Given the description of an element on the screen output the (x, y) to click on. 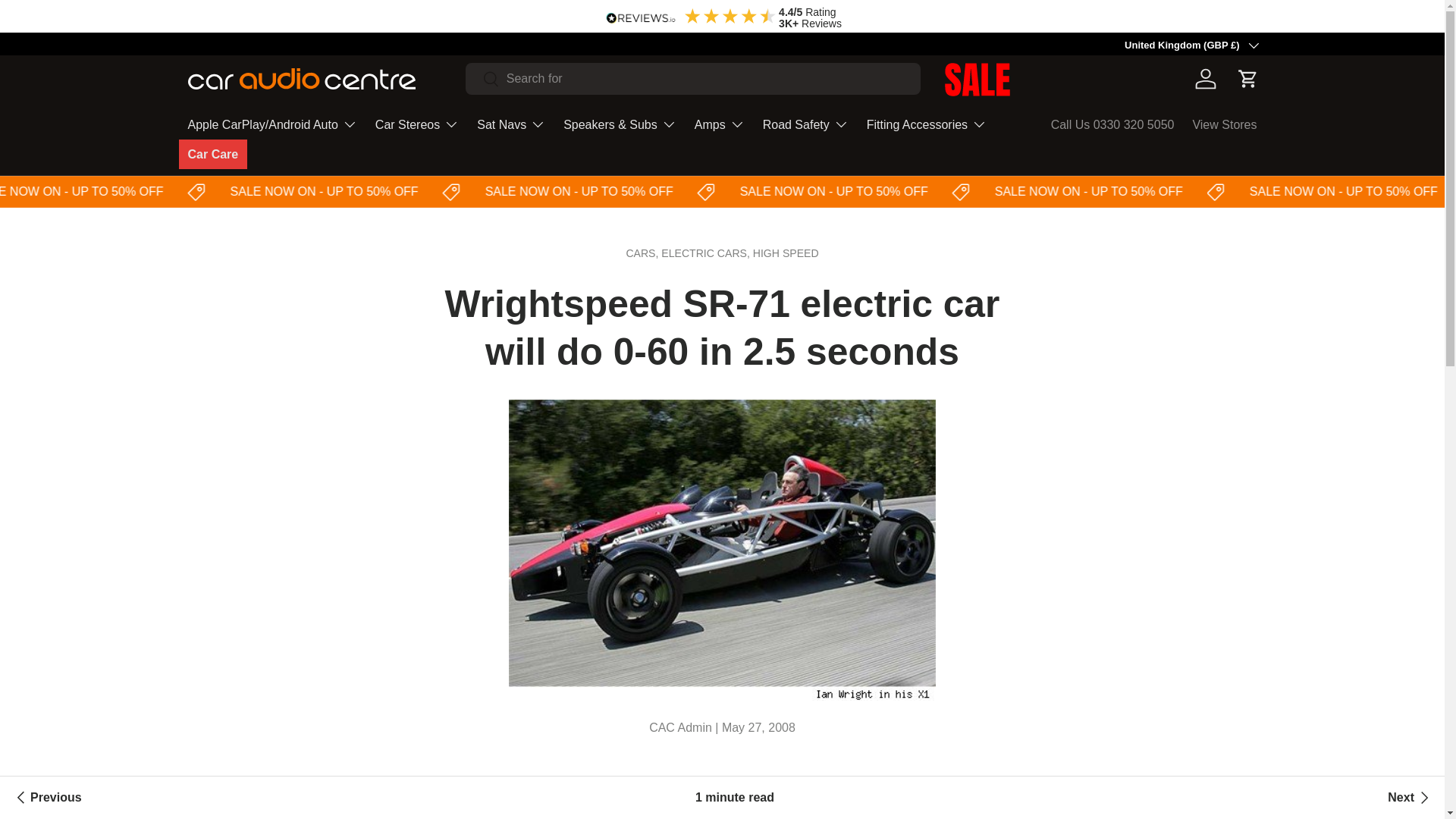
Search (482, 79)
Wrightspeed SR-71 (721, 796)
Log in (1206, 78)
Skip to content (69, 22)
Car Stereos (416, 123)
Sat Navs (510, 123)
Cart (1248, 78)
